Given the description of an element on the screen output the (x, y) to click on. 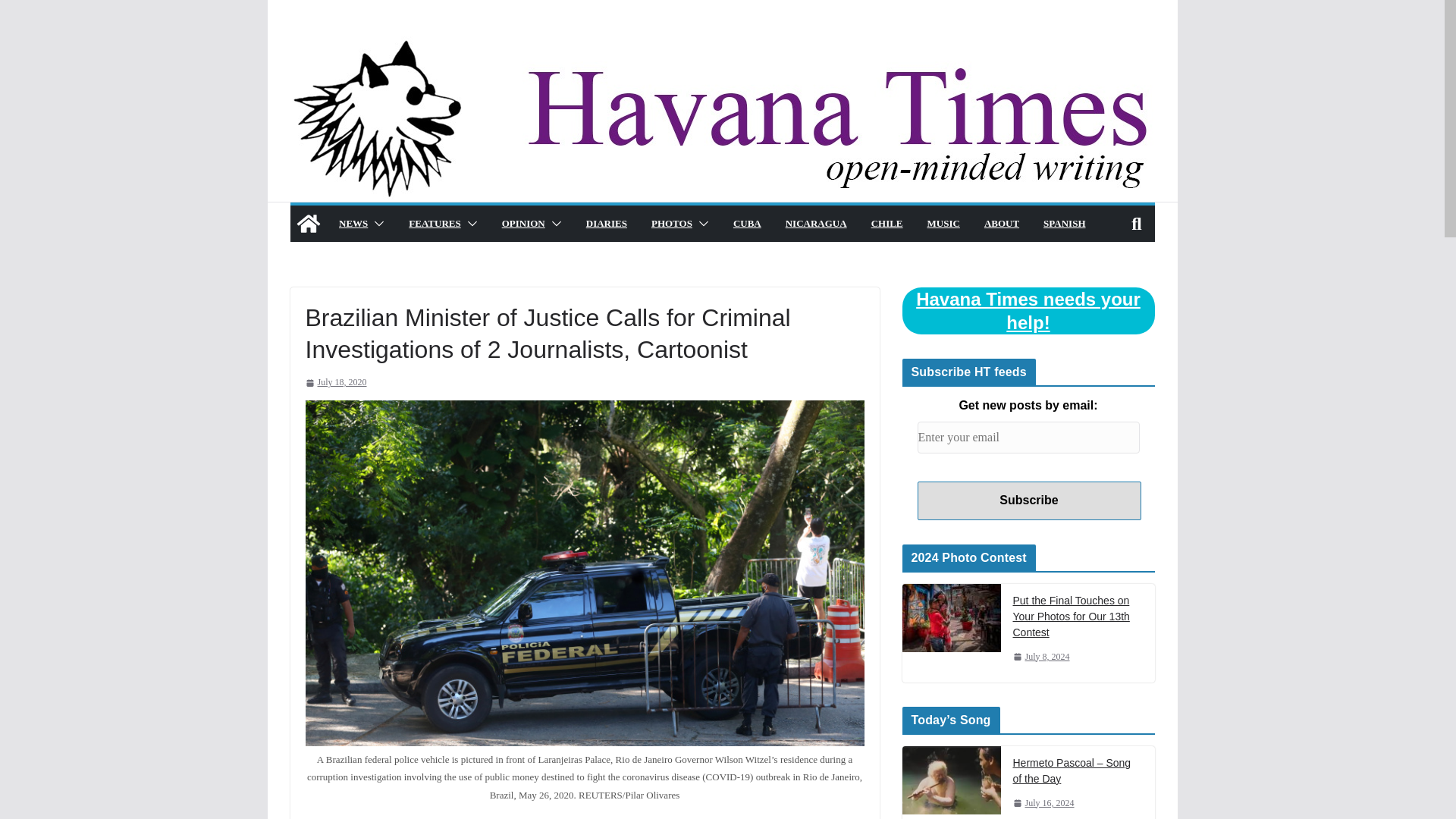
PHOTOS (670, 223)
Havana Times (307, 223)
Havana Times (721, 46)
2:29 pm (335, 382)
July 18, 2020 (335, 382)
SPANISH (1063, 223)
Subscribe (1029, 500)
5:38 pm (1043, 803)
Put the Final Touches on Your Photos for Our 13th Contest (951, 632)
Put the Final Touches on Your Photos for Our 13th Contest (1077, 616)
July 8, 2024 (1041, 657)
DIARIES (605, 223)
OPINION (522, 223)
July 16, 2024 (1043, 803)
ABOUT (1000, 223)
